Given the description of an element on the screen output the (x, y) to click on. 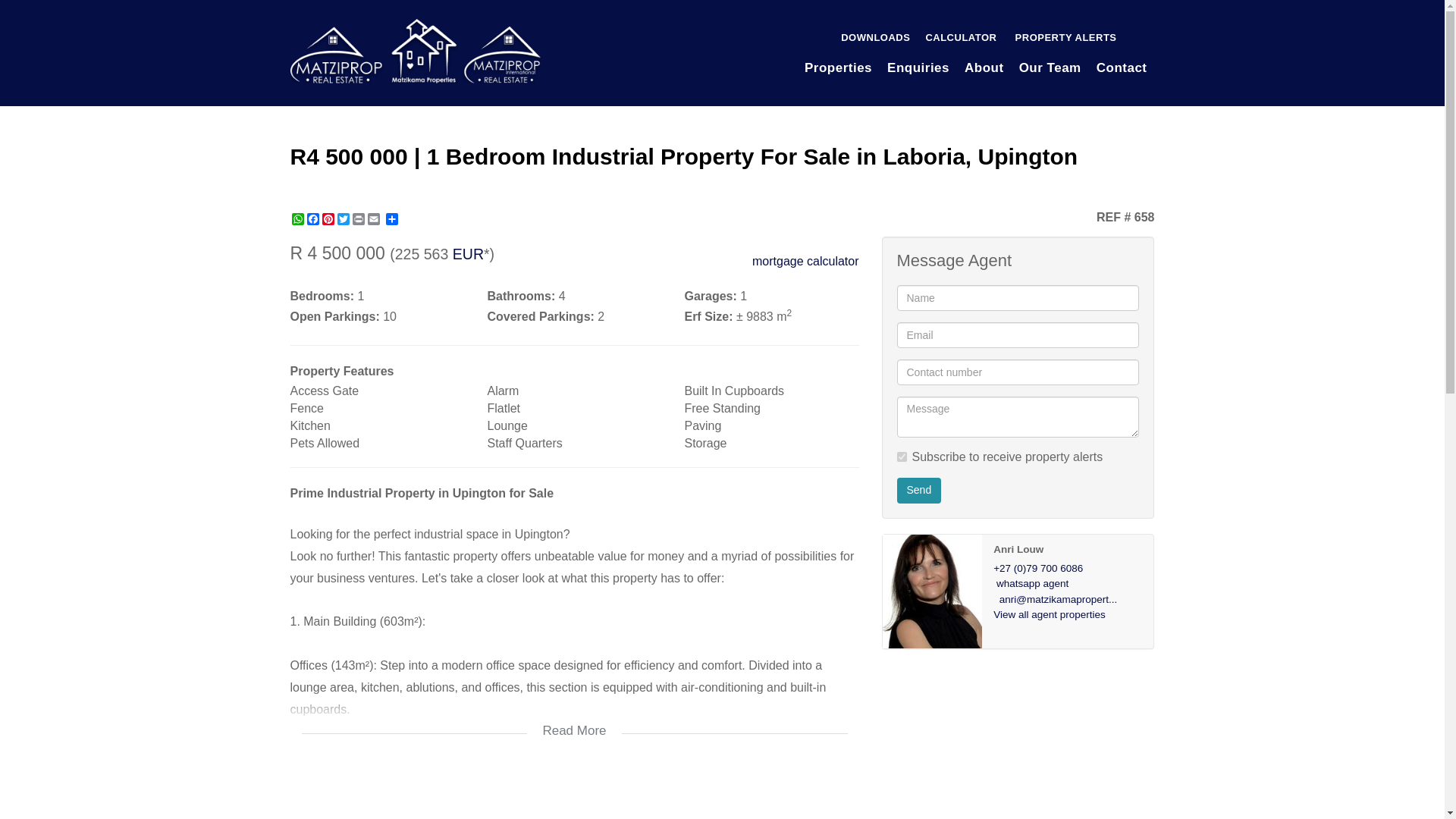
CALCULATOR (960, 37)
Read More (574, 721)
on (900, 456)
Contact (1121, 68)
Matzikama Properties, Estate Agency Logo (414, 50)
WhatsApp (296, 218)
Facebook (312, 218)
google map (574, 794)
 PROPERTY ALERTS (1064, 37)
DOWNLOADS (874, 37)
Our Team (1050, 68)
Properties (837, 68)
Twitter (342, 218)
Print (357, 218)
About (983, 68)
